Given the description of an element on the screen output the (x, y) to click on. 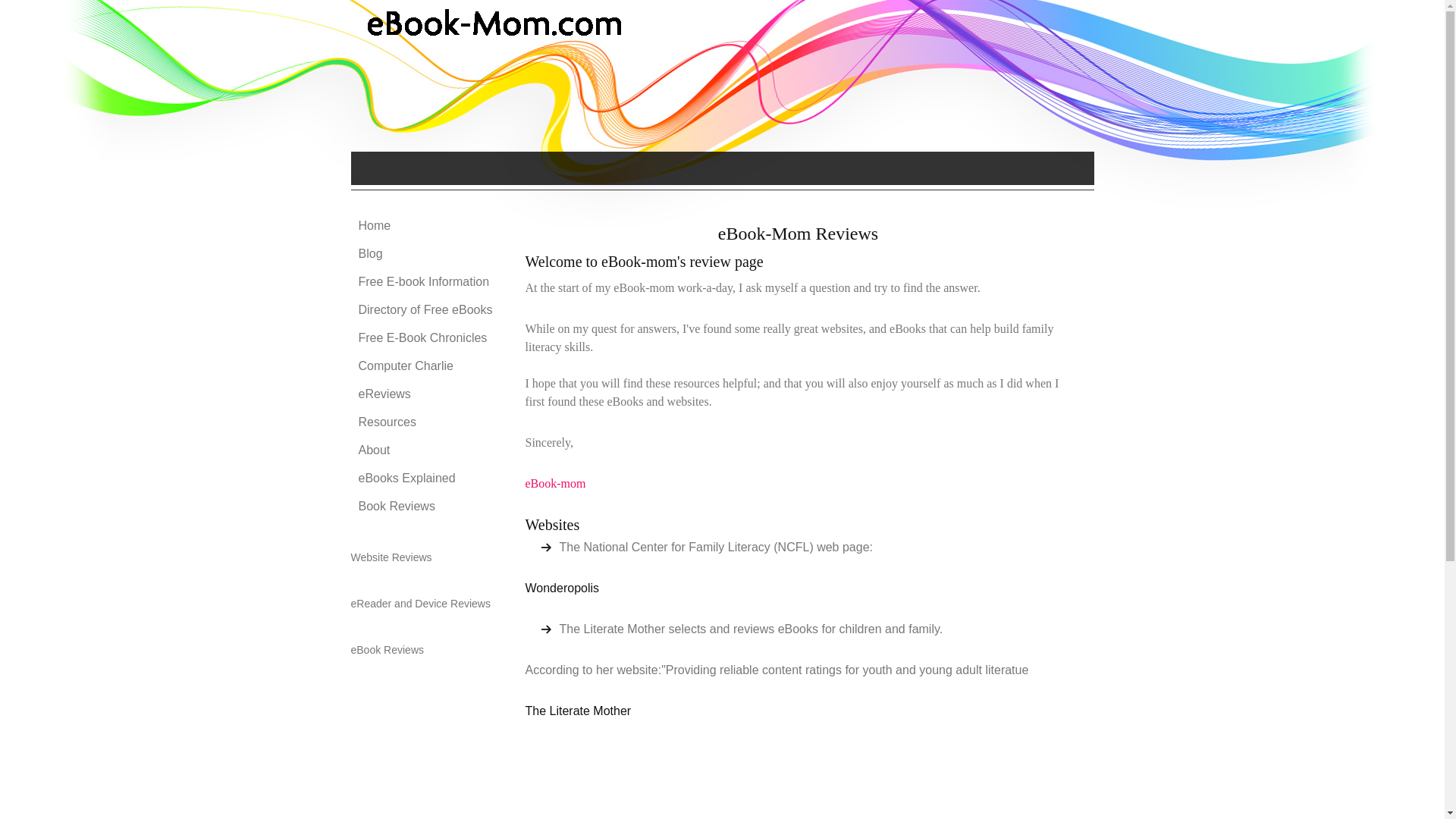
About (426, 450)
Wonderopolis (561, 587)
eReviews (426, 394)
Home (426, 225)
eBooks Explained (426, 478)
Free E-Book Chronicles (426, 338)
Book Reviews (426, 506)
Blog (426, 253)
Directory of Free eBooks (426, 309)
The Literate Mother (577, 710)
Computer Charlie (426, 365)
Free E-book Information (426, 281)
Resources (426, 421)
